Given the description of an element on the screen output the (x, y) to click on. 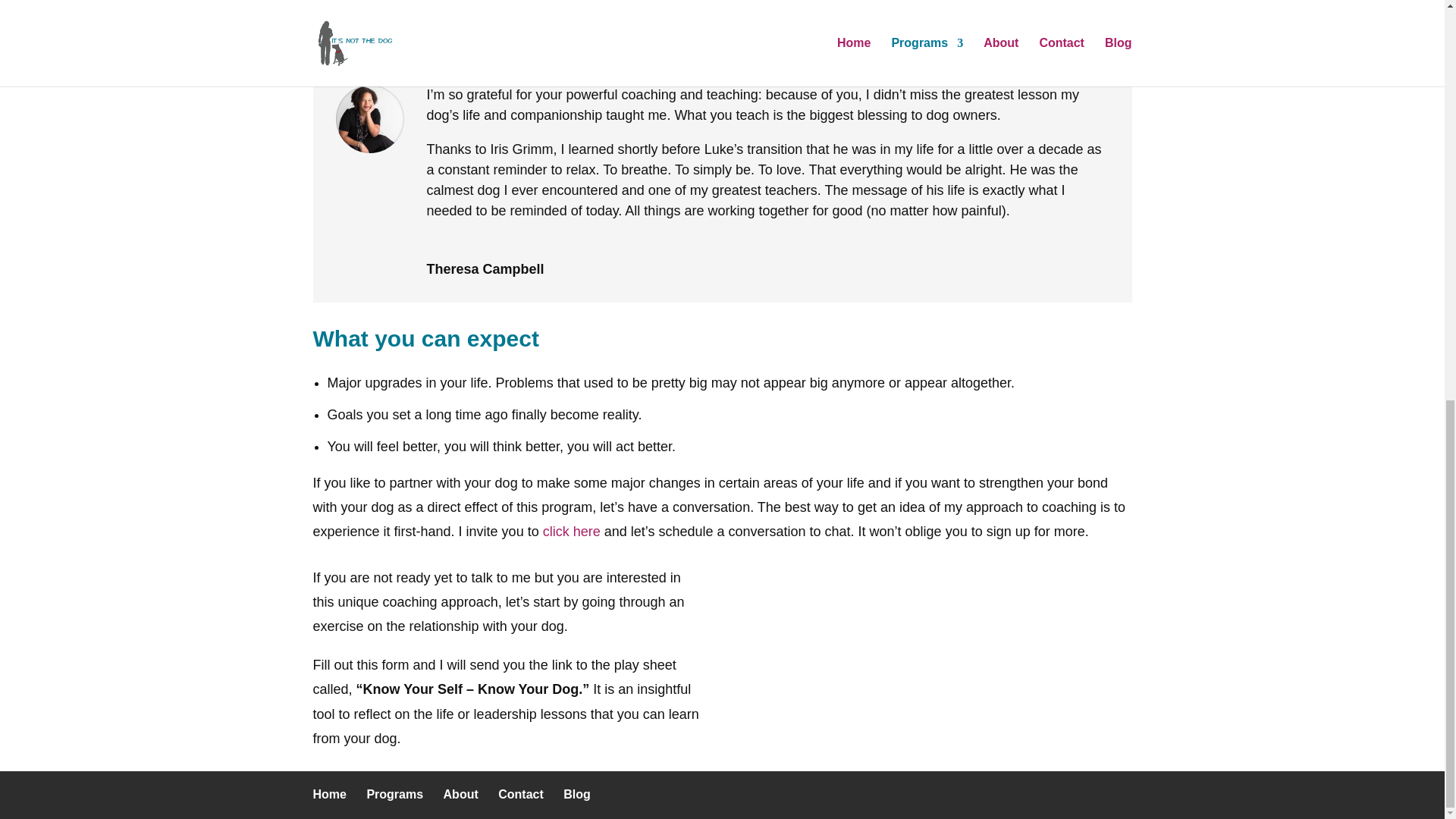
Programs (394, 793)
Blog (577, 793)
Home (329, 793)
Contact (520, 793)
About (461, 793)
click here (571, 531)
